Given the description of an element on the screen output the (x, y) to click on. 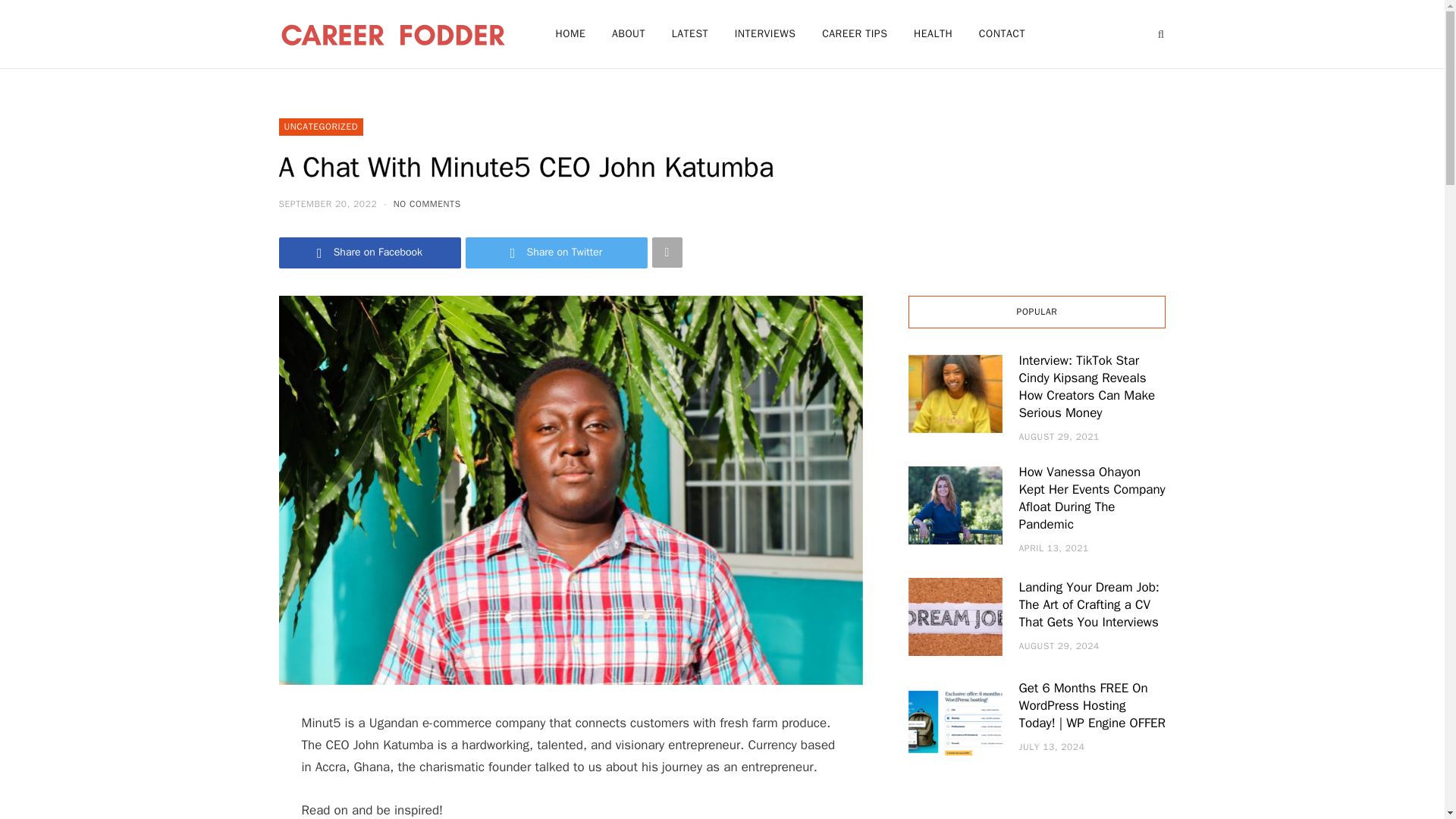
Career Fodder (392, 33)
CONTACT (1002, 33)
Share on Twitter (556, 252)
Share on Facebook (370, 252)
NO COMMENTS (427, 203)
UNCATEGORIZED (321, 126)
SEPTEMBER 20, 2022 (329, 203)
Share on Twitter (556, 252)
INTERVIEWS (765, 33)
